Given the description of an element on the screen output the (x, y) to click on. 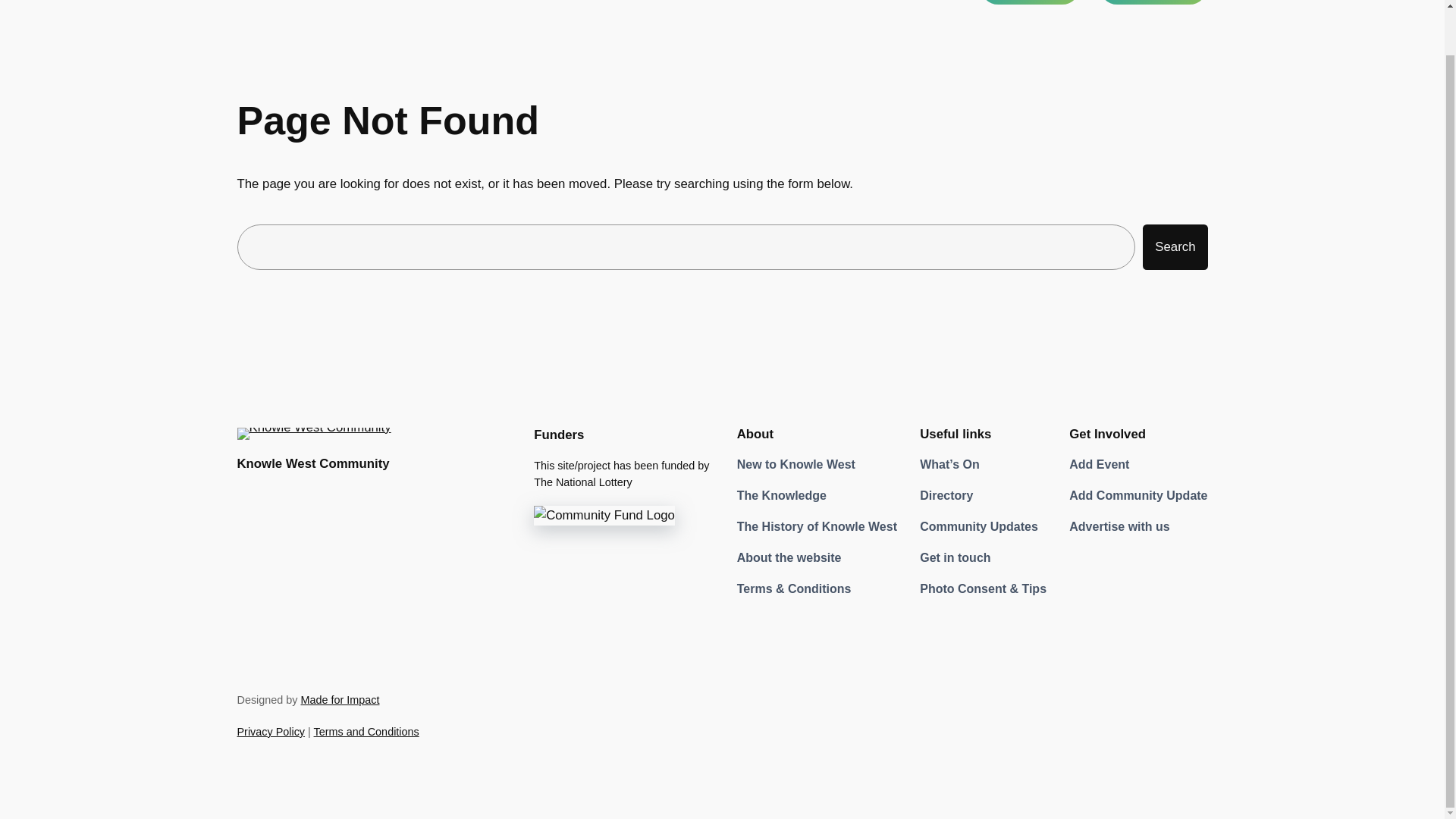
Made for Impact (338, 699)
The Knowledge (781, 496)
Add Event (1098, 465)
Advertise with us (1118, 527)
Knowle West Community (311, 463)
Search (1174, 247)
Terms and Conditions (366, 731)
Directory (946, 496)
Get in touch (955, 558)
The History of Knowle West (816, 527)
